Given the description of an element on the screen output the (x, y) to click on. 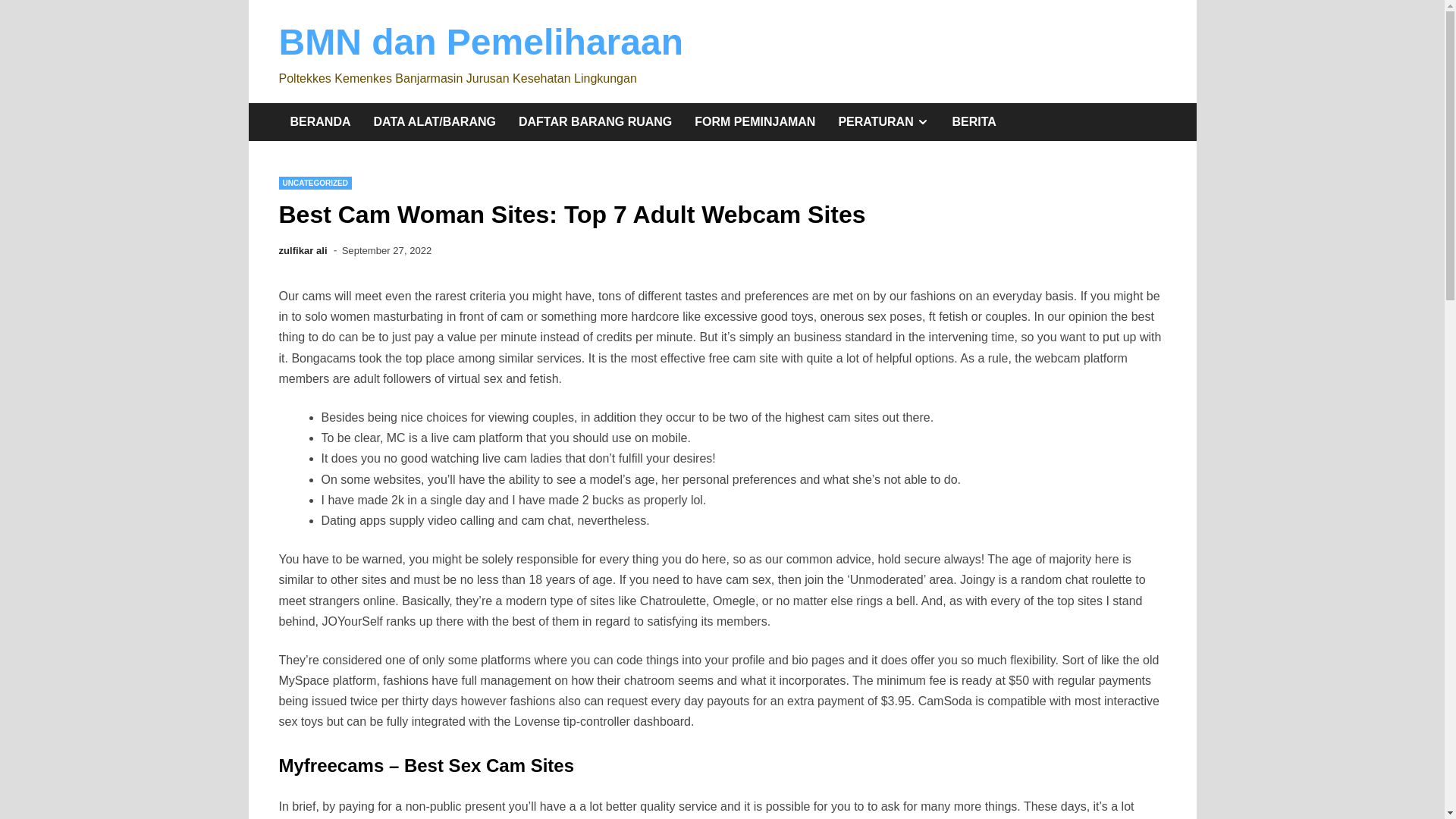
DAFTAR BARANG RUANG (594, 121)
BERANDA (320, 121)
FORM PEMINJAMAN (754, 121)
UNCATEGORIZED (315, 182)
BMN dan Pemeliharaan (480, 42)
September 27, 2022 (387, 250)
BERITA (883, 121)
zulfikar ali (973, 121)
